Given the description of an element on the screen output the (x, y) to click on. 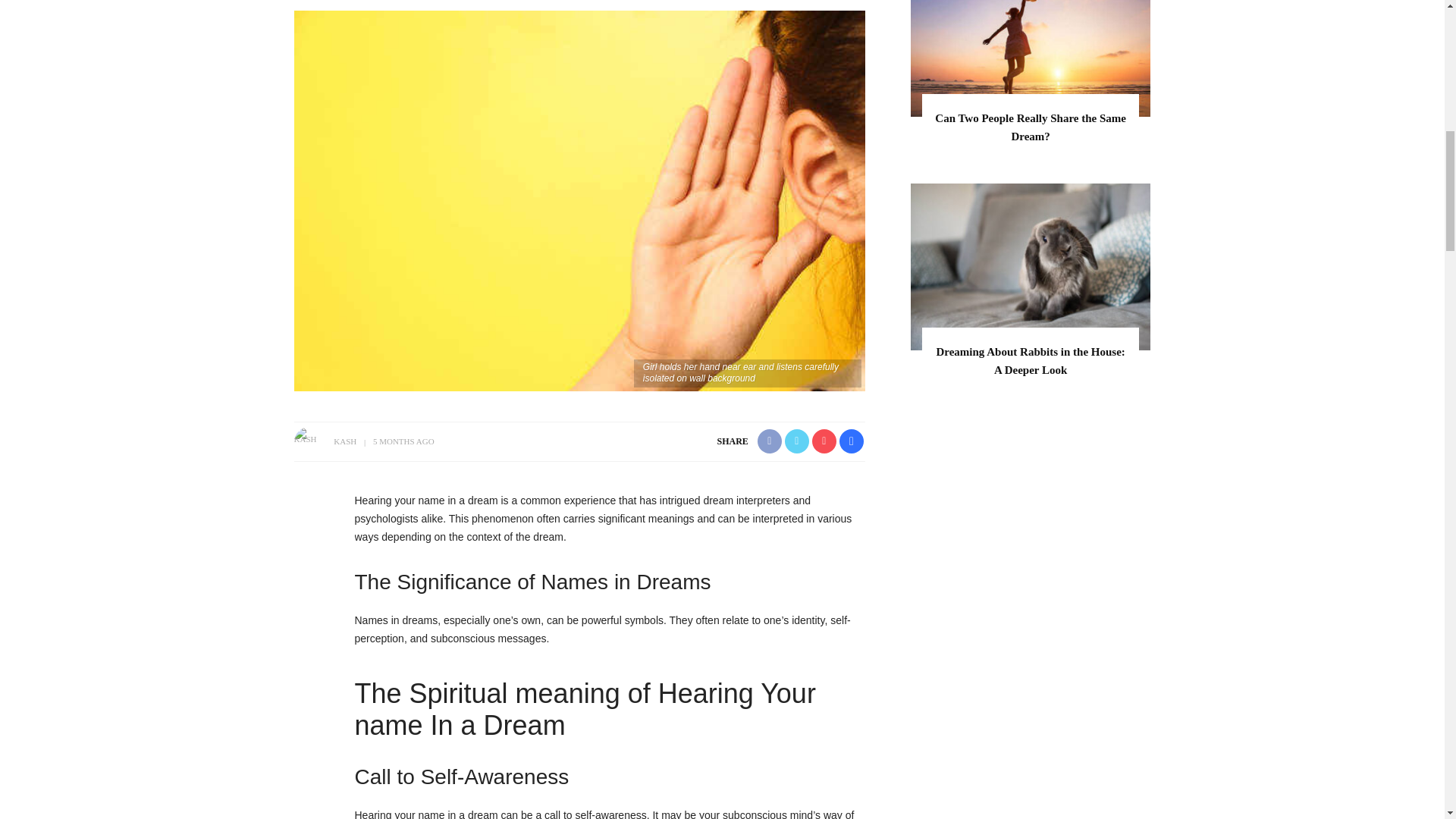
Can Two People Really Share the Same Dream? (1029, 127)
Post by Kash (344, 440)
Dreaming About Rabbits in the House: A Deeper Look (1030, 360)
KASH (344, 440)
Can Two People Really Share the Same Dream? (1029, 127)
Hearing Your Name in Dreams: The Spiritual Meaning (579, 200)
Can Two People Really Share the Same Dream? (1031, 31)
